Given the description of an element on the screen output the (x, y) to click on. 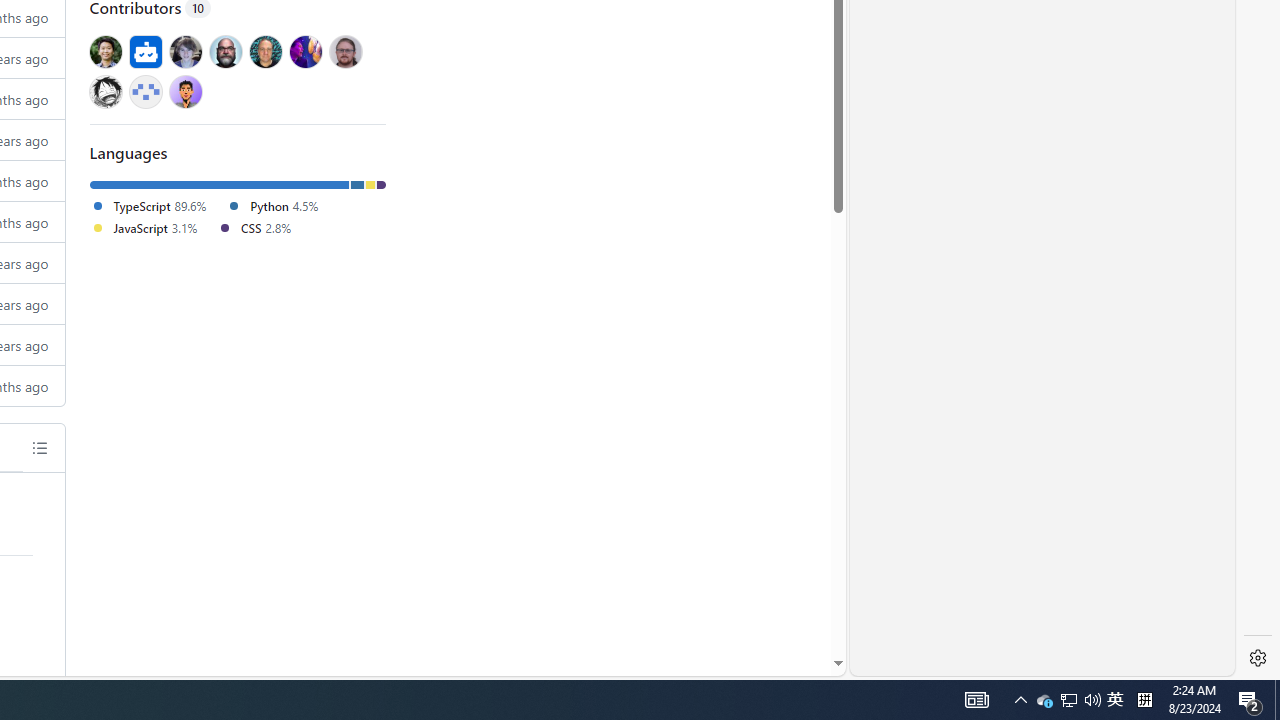
@coderberry (224, 51)
CSS 2.8% (253, 227)
Outline (39, 447)
Python 4.5% (272, 205)
@coderberry (224, 51)
@sy-records (105, 91)
@dependabot[bot] (145, 51)
@paul-hammant (265, 51)
Python4.5% (280, 206)
@dguo (105, 51)
@davidak (185, 51)
@davidak (185, 51)
@mstrzele (145, 91)
@mstrzele (145, 91)
JavaScript3.1% (153, 228)
